Given the description of an element on the screen output the (x, y) to click on. 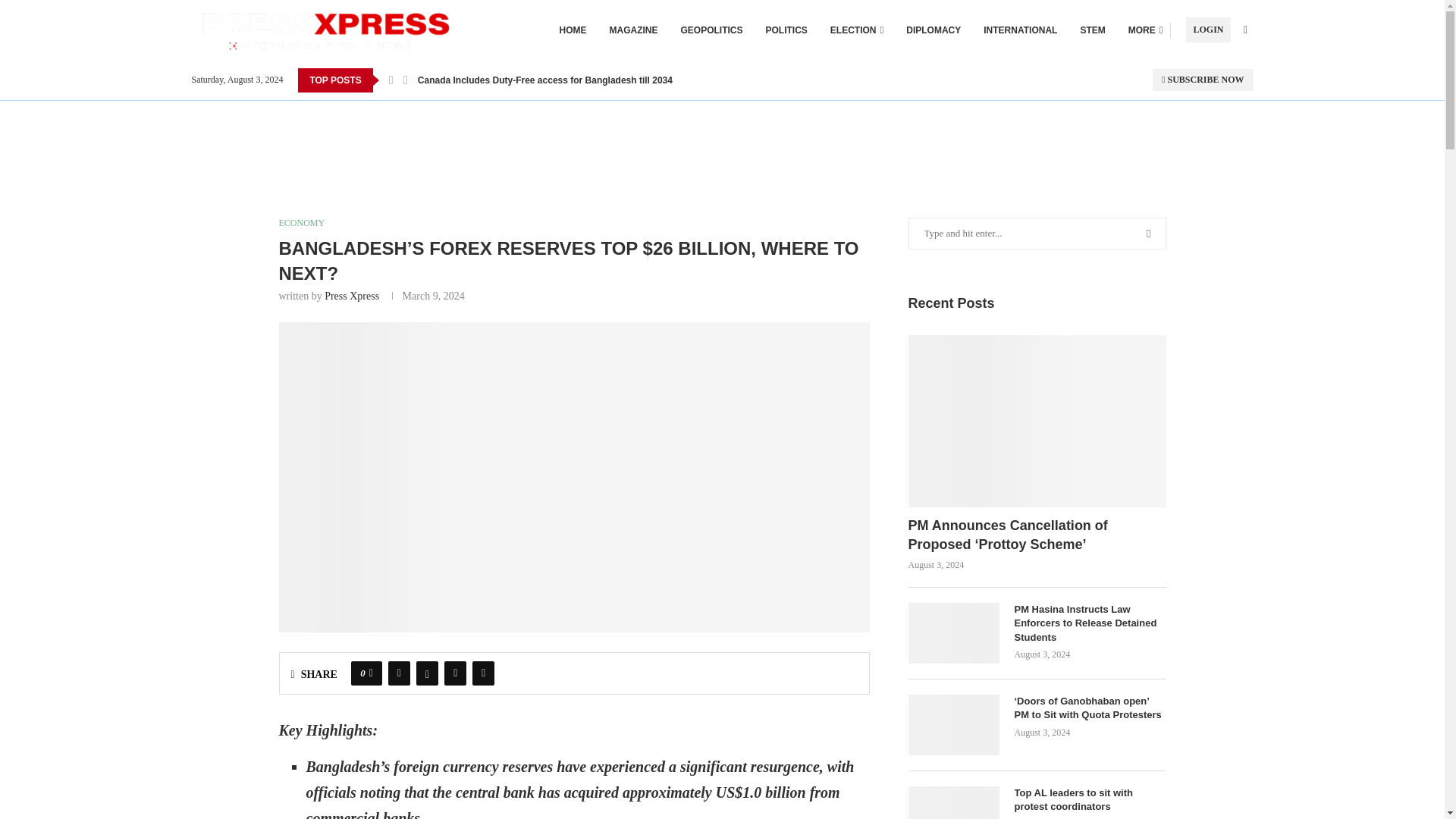
ELECTION (856, 30)
INTERNATIONAL (1020, 30)
GEOPOLITICS (711, 30)
POLITICS (786, 30)
MAGAZINE (634, 30)
DIPLOMACY (932, 30)
